Given the description of an element on the screen output the (x, y) to click on. 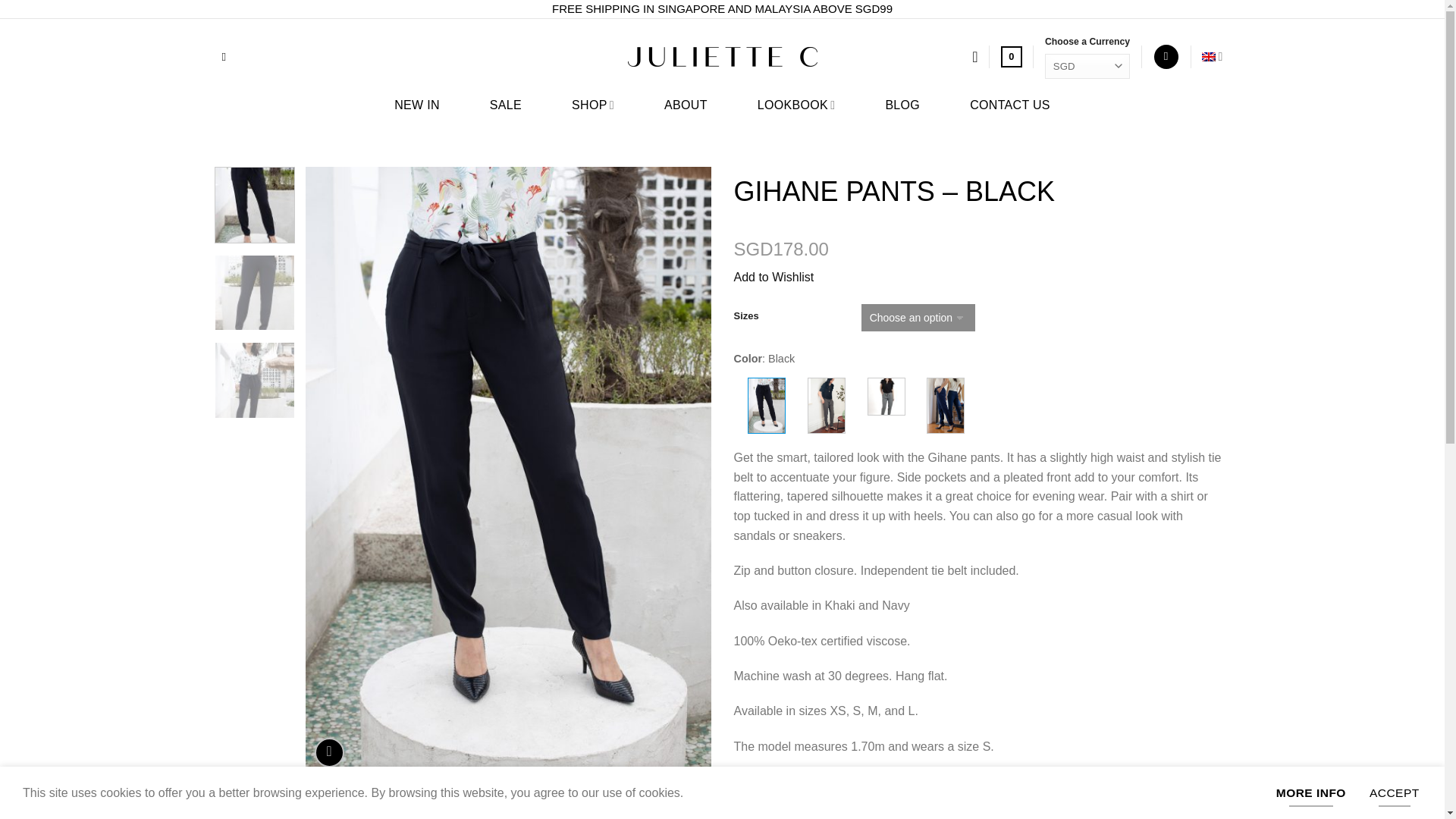
SHOP (593, 107)
SALE (505, 107)
0 (1011, 56)
Cart (1011, 56)
ABOUT (685, 107)
Gihane pants - navy (944, 405)
Gihane pants - khaki (826, 405)
NEW IN (416, 107)
JULIETTE C - Women Fashion Online (721, 56)
Zoom (328, 752)
Original price:178 (780, 249)
GIHANE PANTS - KHAKI GREY (886, 396)
